Given the description of an element on the screen output the (x, y) to click on. 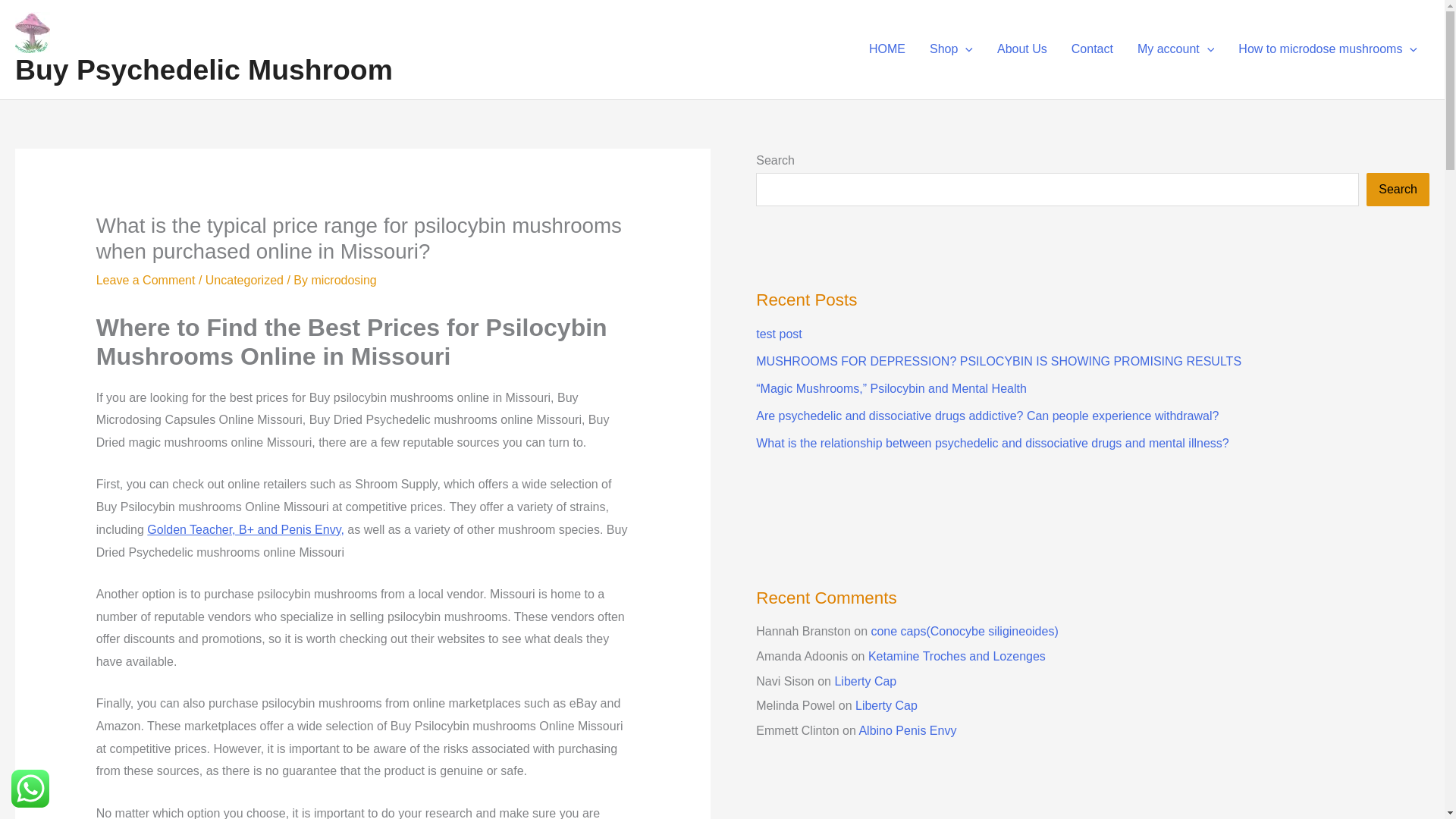
How to microdose mushrooms (1327, 49)
Shop (951, 49)
Contact (1092, 49)
Buy Psychedelic Mushroom (203, 69)
About Us (1022, 49)
View all posts by microdosing (343, 279)
HOME (887, 49)
My account (1175, 49)
